Given the description of an element on the screen output the (x, y) to click on. 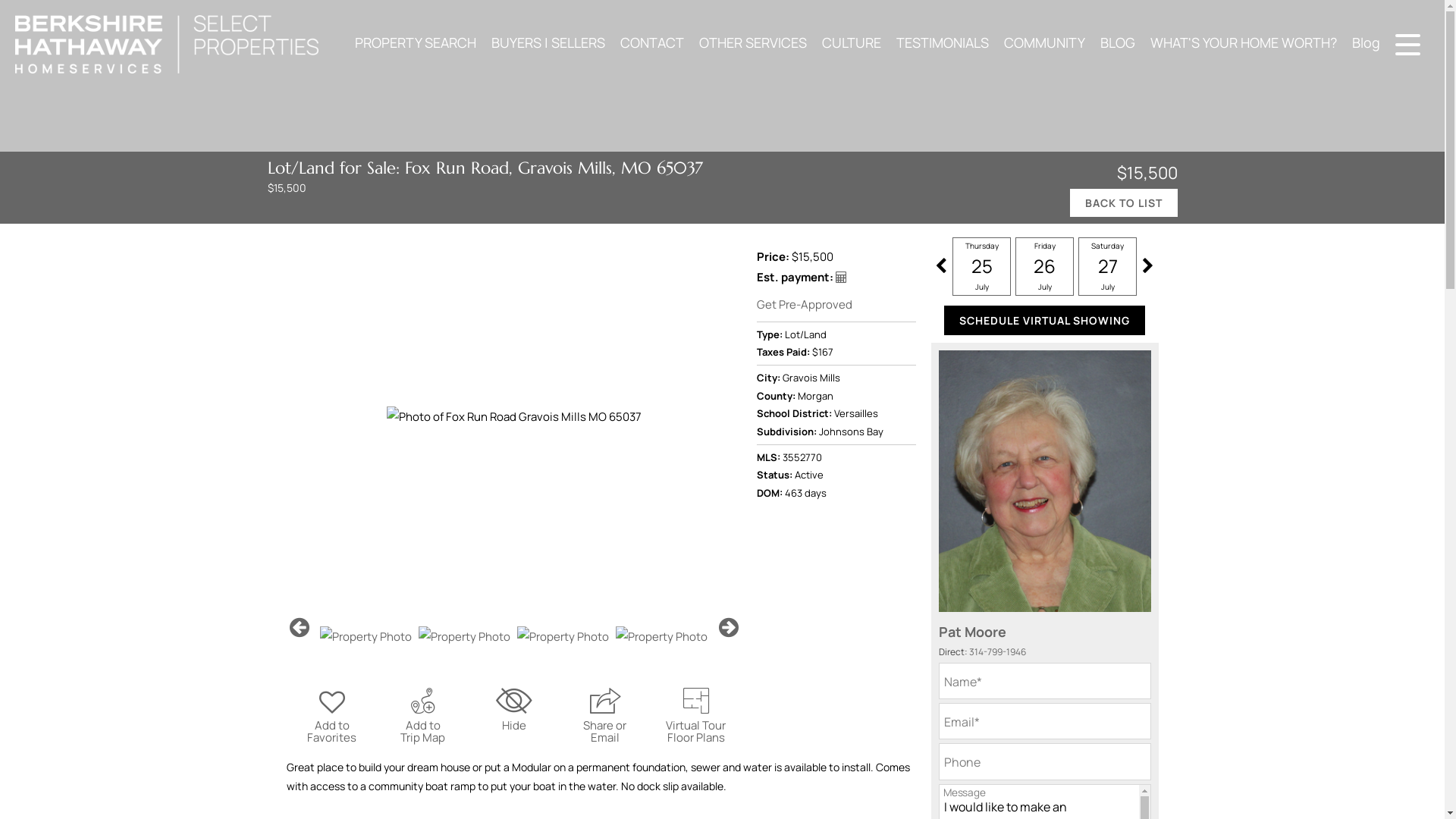
CONTACT (651, 42)
Fox Run Road Gravois Mills MO 65037 (514, 416)
OTHER SERVICES (752, 42)
CULTURE (850, 42)
COMMUNITY (1044, 42)
PROPERTY SEARCH (415, 42)
TESTIMONIALS (941, 42)
